Given the description of an element on the screen output the (x, y) to click on. 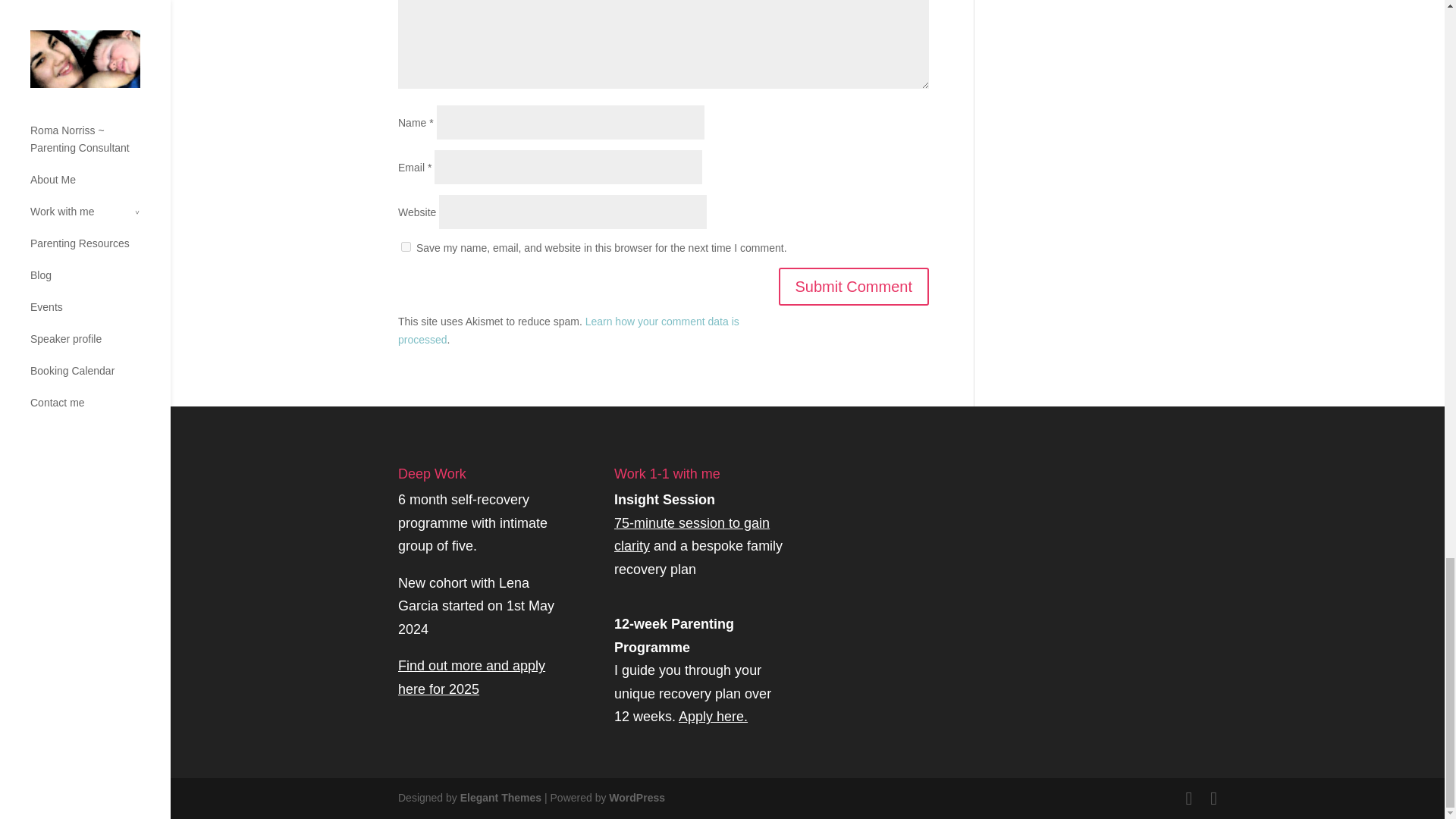
Premium WordPress Themes (500, 797)
6 month self-recovery programme with intimate group of five. (472, 522)
WordPress (636, 797)
Submit Comment (852, 286)
yes (405, 246)
Submit Comment (852, 286)
Learn how your comment data is processed (568, 330)
Elegant Themes (500, 797)
